Given the description of an element on the screen output the (x, y) to click on. 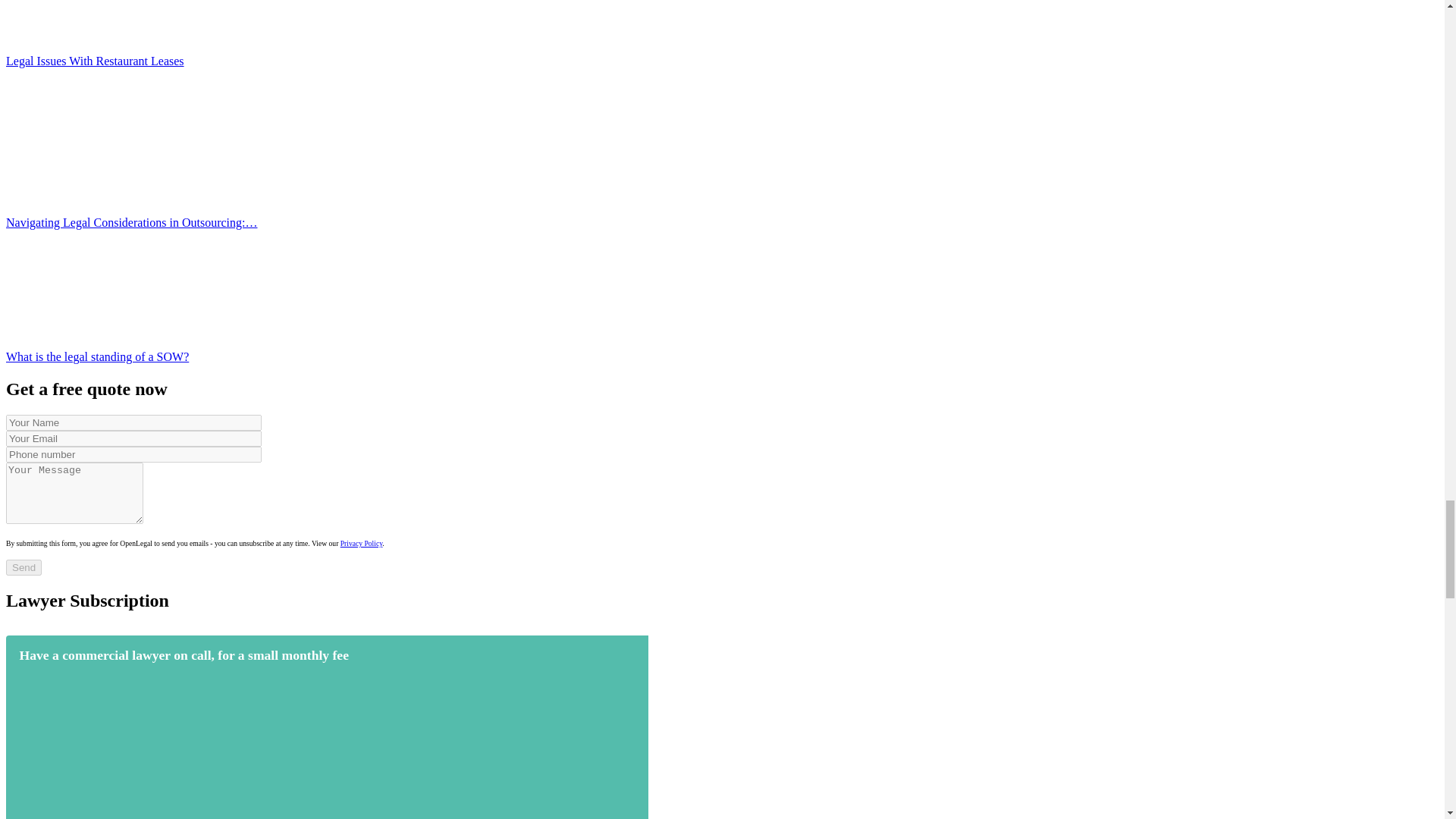
What is the legal standing of a SOW? (118, 282)
Legal Issues With Restaurant Leases (118, 19)
Send (23, 567)
